Given the description of an element on the screen output the (x, y) to click on. 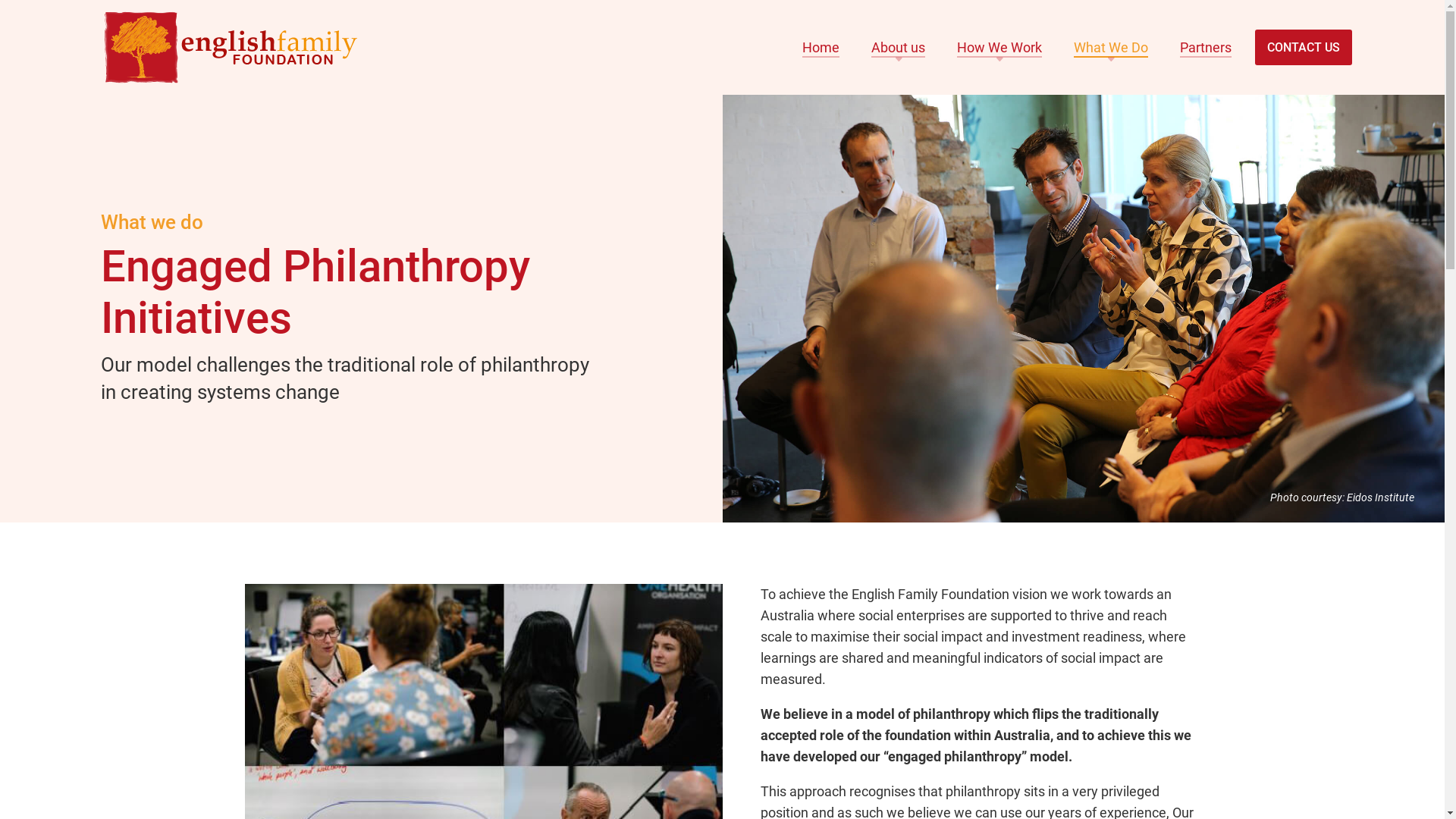
Partners Element type: text (1205, 46)
Home Element type: text (820, 46)
Photo courtesy: Eidos Institute Element type: hover (1082, 308)
What We Do Element type: text (1110, 46)
About us Element type: text (897, 46)
How We Work Element type: text (999, 46)
CONTACT US Element type: text (1302, 47)
